Given the description of an element on the screen output the (x, y) to click on. 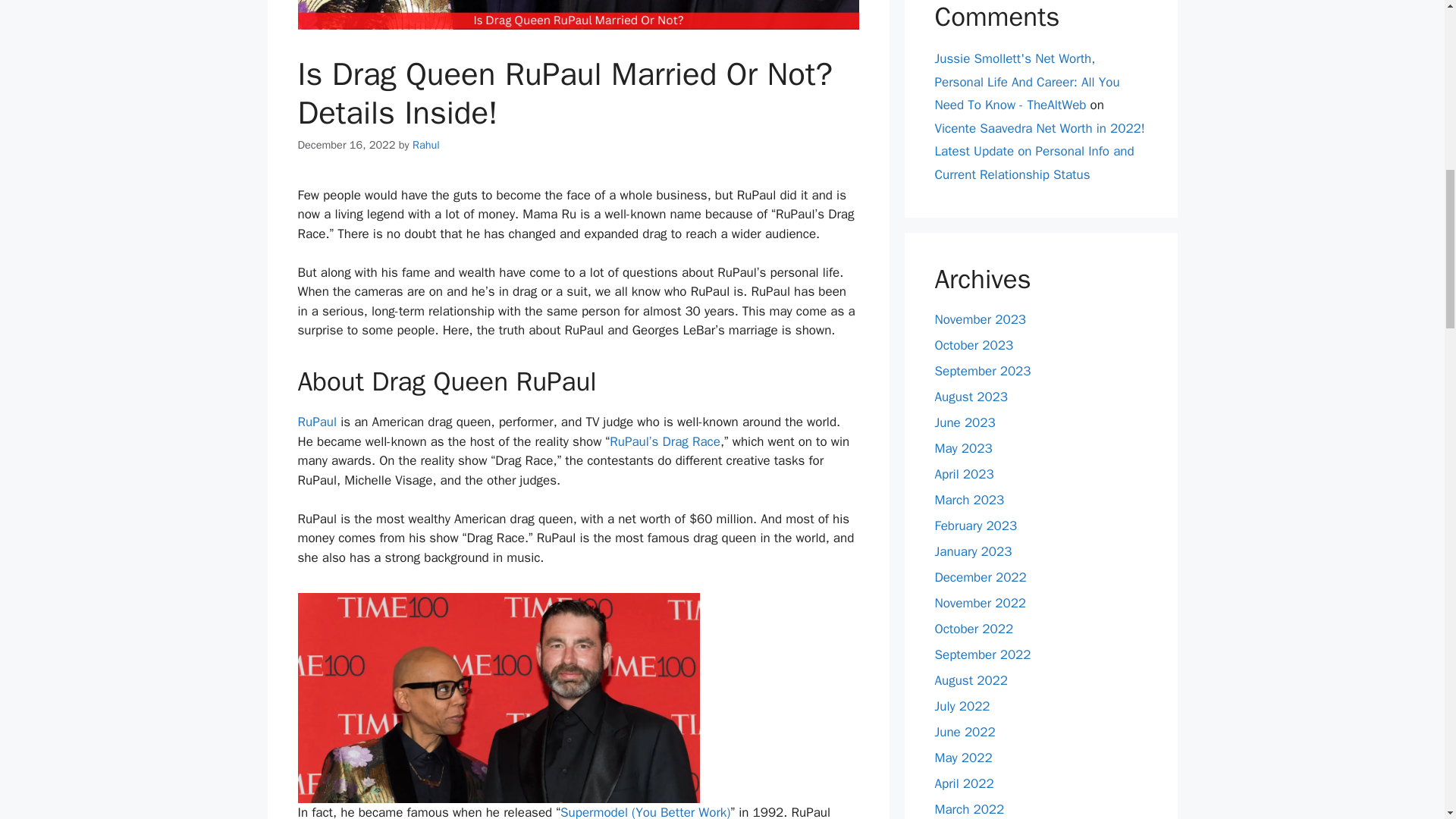
View all posts by Rahul (425, 144)
November 2023 (980, 319)
March 2023 (969, 499)
February 2023 (975, 525)
April 2023 (963, 474)
November 2022 (980, 602)
December 2022 (980, 577)
October 2022 (973, 628)
August 2023 (970, 396)
October 2023 (973, 344)
Rahul (425, 144)
January 2023 (972, 551)
RuPaul (318, 421)
